Given the description of an element on the screen output the (x, y) to click on. 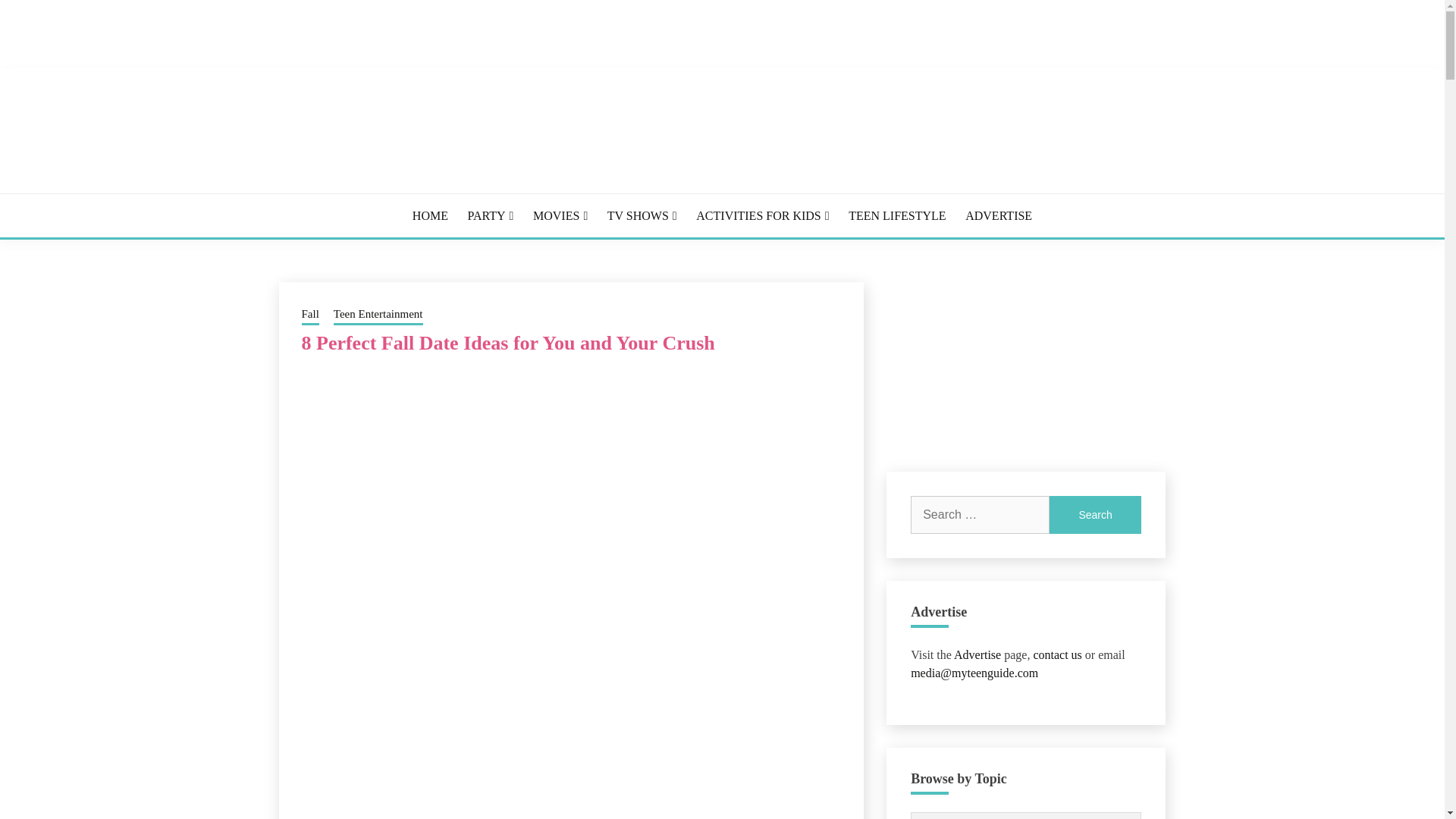
HOME (430, 215)
TEEN LIFESTYLE (896, 215)
Search (1095, 514)
MY TEEN GUIDE (464, 213)
MOVIES (560, 215)
Search (1095, 514)
TV SHOWS (642, 215)
PARTY (490, 215)
Teen Entertainment (378, 315)
ADVERTISE (998, 215)
